Given the description of an element on the screen output the (x, y) to click on. 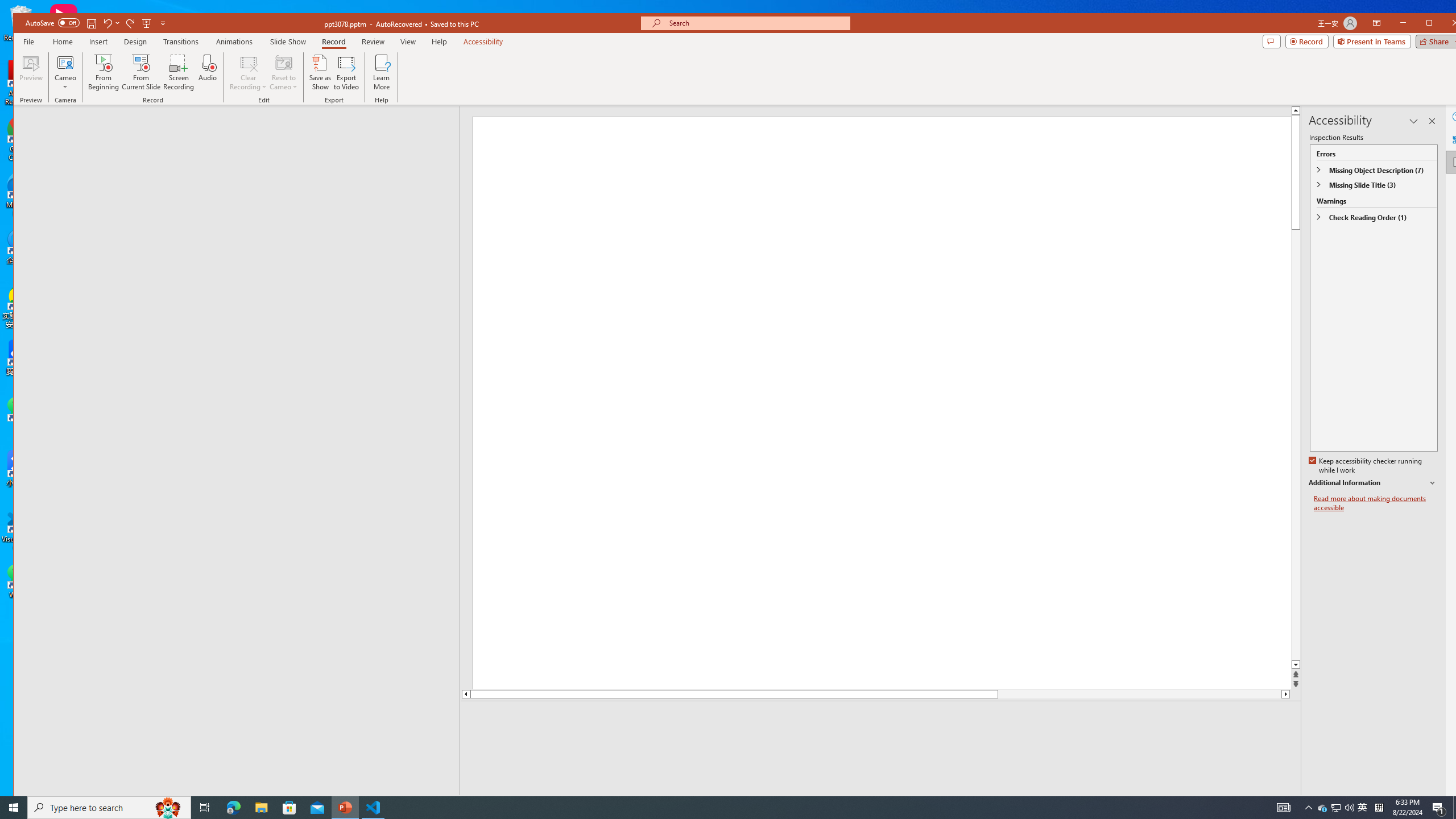
Save as Show (320, 72)
From Current Slide... (140, 72)
Additional Information (1373, 482)
Screen Recording (178, 72)
Export to Video (347, 72)
